Given the description of an element on the screen output the (x, y) to click on. 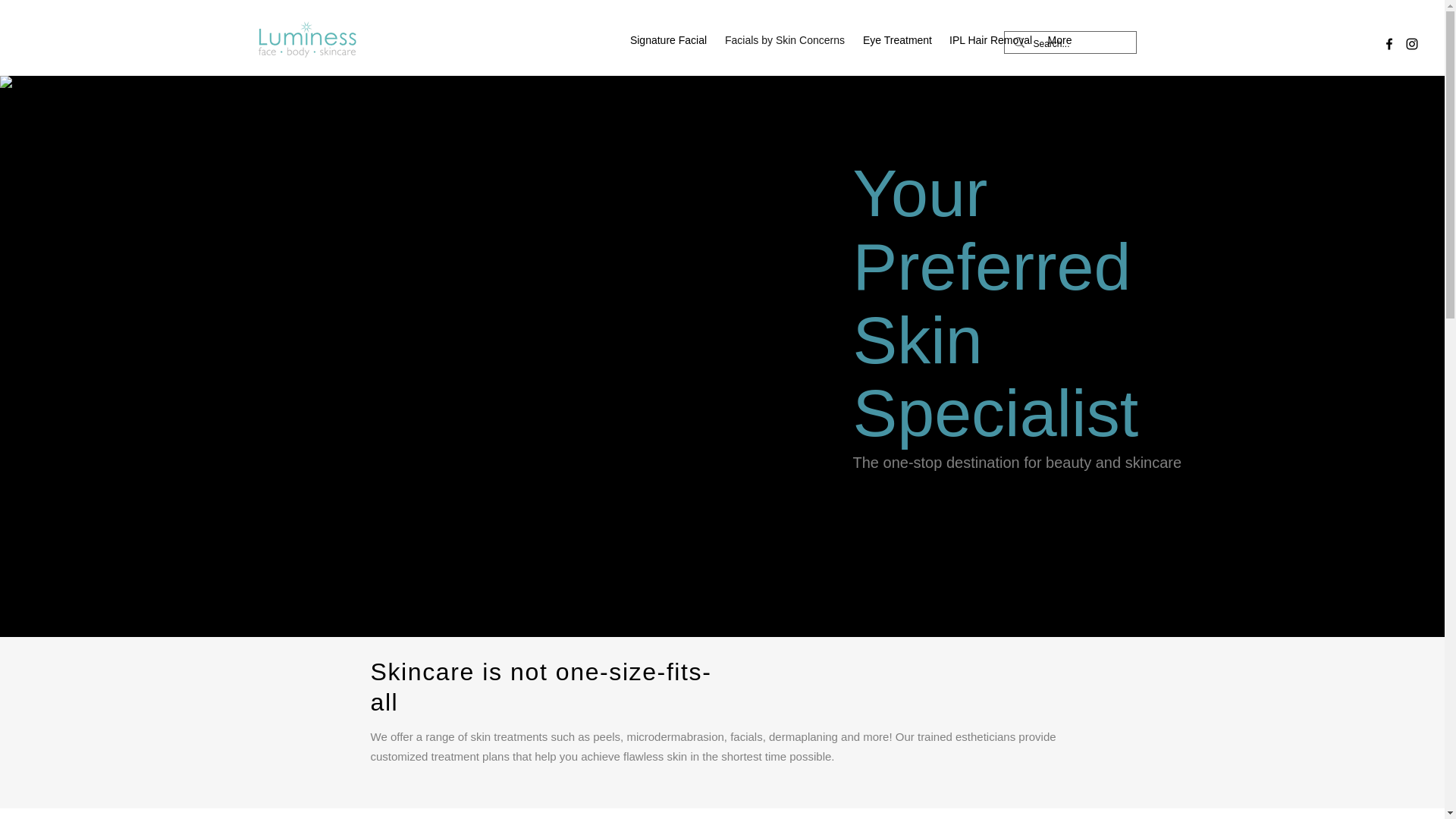
Signature Facial (668, 39)
Eye Treatment (897, 39)
IPL Hair Removal (990, 39)
Facials by Skin Concerns (784, 39)
